Given the description of an element on the screen output the (x, y) to click on. 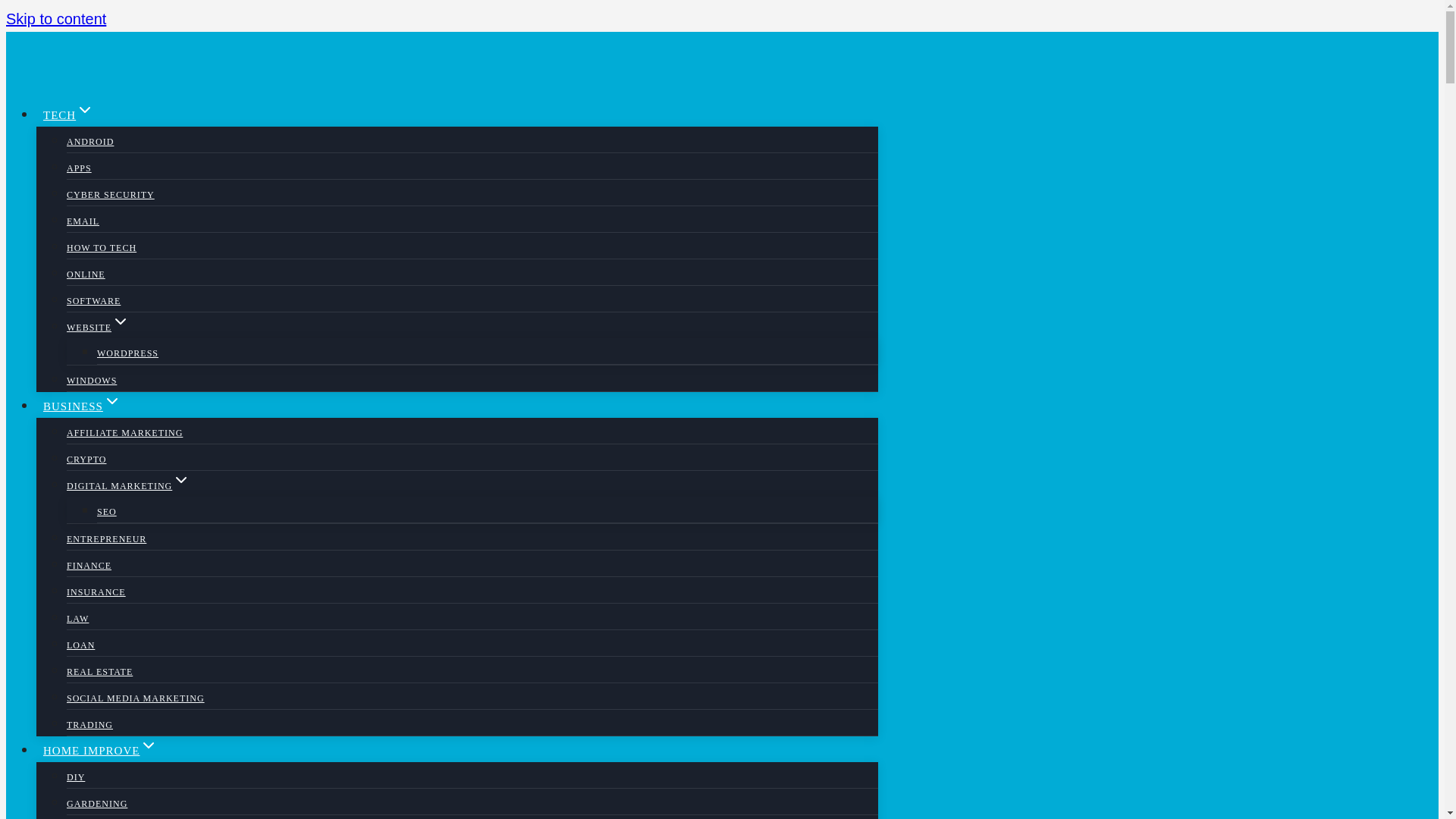
ONLINE (85, 274)
CRYPTO (86, 459)
WINDOWS (91, 380)
ENTREPRENEUR (106, 538)
EMAIL (82, 221)
SOFTWARE (93, 300)
EXPAND (180, 479)
WEBSITEEXPAND (97, 327)
BUSINESSEXPAND (82, 406)
EXPAND (84, 109)
